Given the description of an element on the screen output the (x, y) to click on. 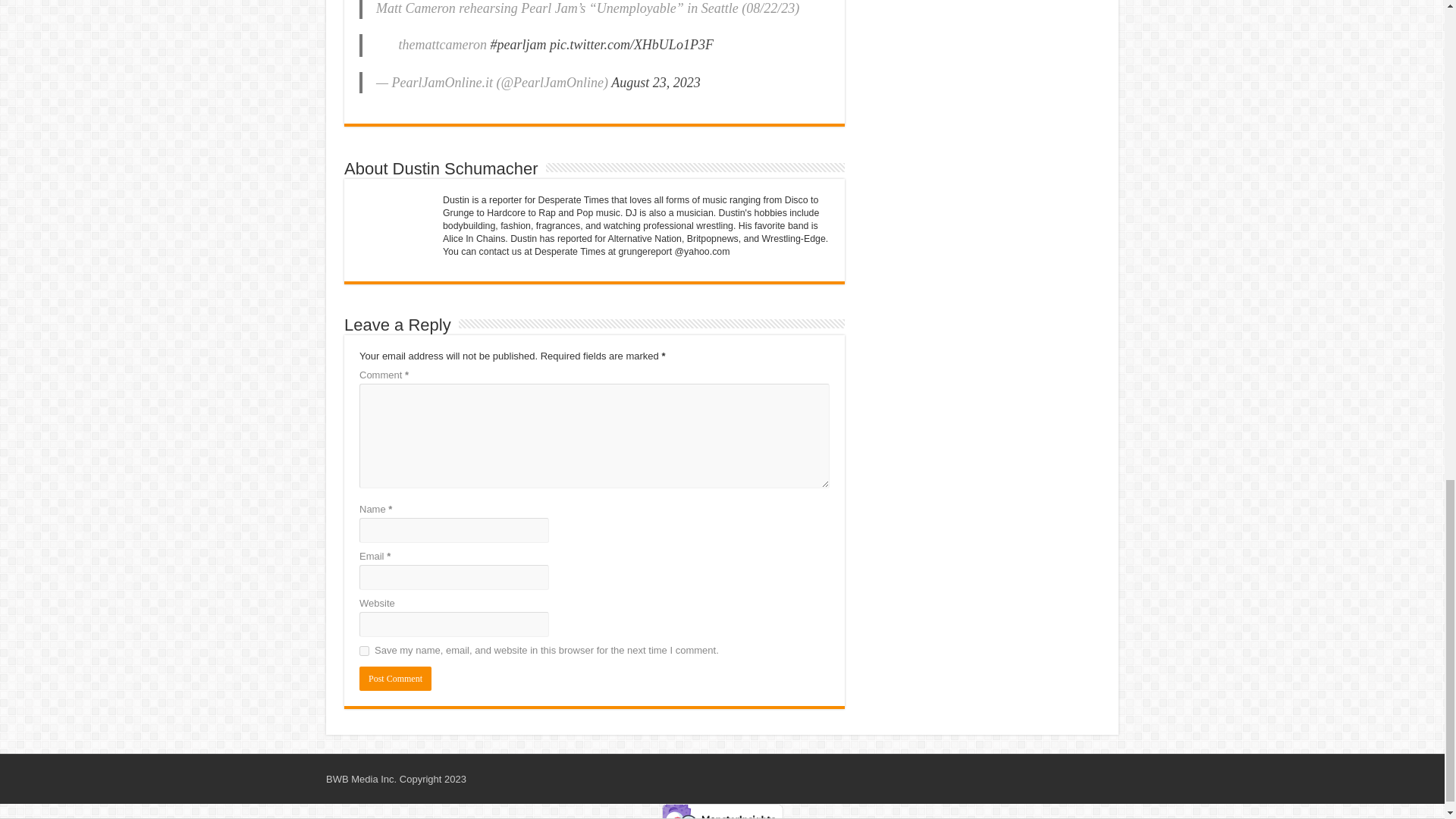
yes (364, 651)
Post Comment (394, 678)
Post Comment (394, 678)
August 23, 2023 (655, 82)
